Given the description of an element on the screen output the (x, y) to click on. 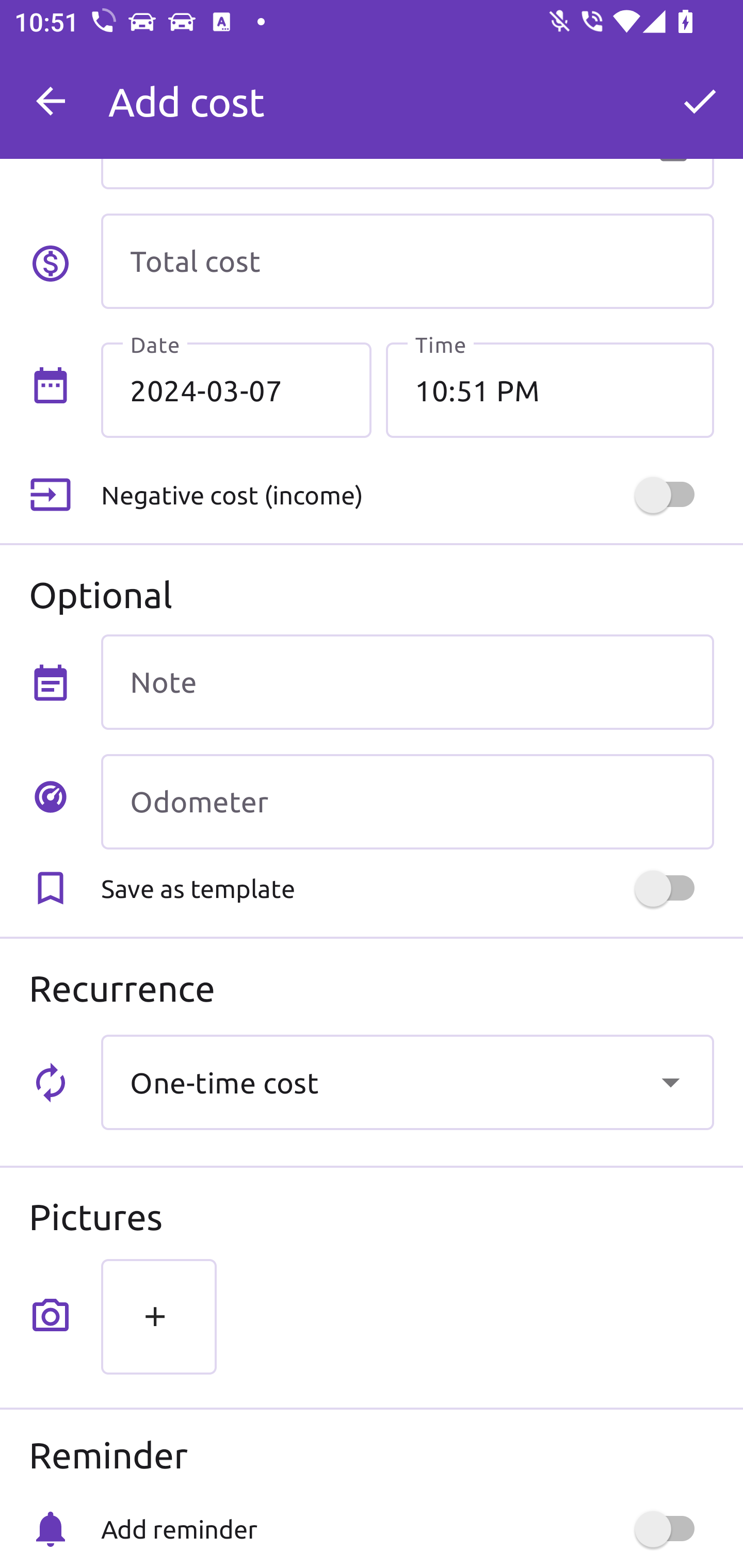
M My Car 0 km (407, 92)
Navigate up (50, 101)
OK (699, 101)
Total cost  (407, 260)
2024-03-07 (236, 389)
10:51 PM (549, 389)
Negative cost (income) (407, 494)
Note (407, 682)
Odometer (407, 801)
Save as template (407, 887)
One-time cost (407, 1082)
Show dropdown menu (670, 1081)
Add reminder (407, 1529)
